Given the description of an element on the screen output the (x, y) to click on. 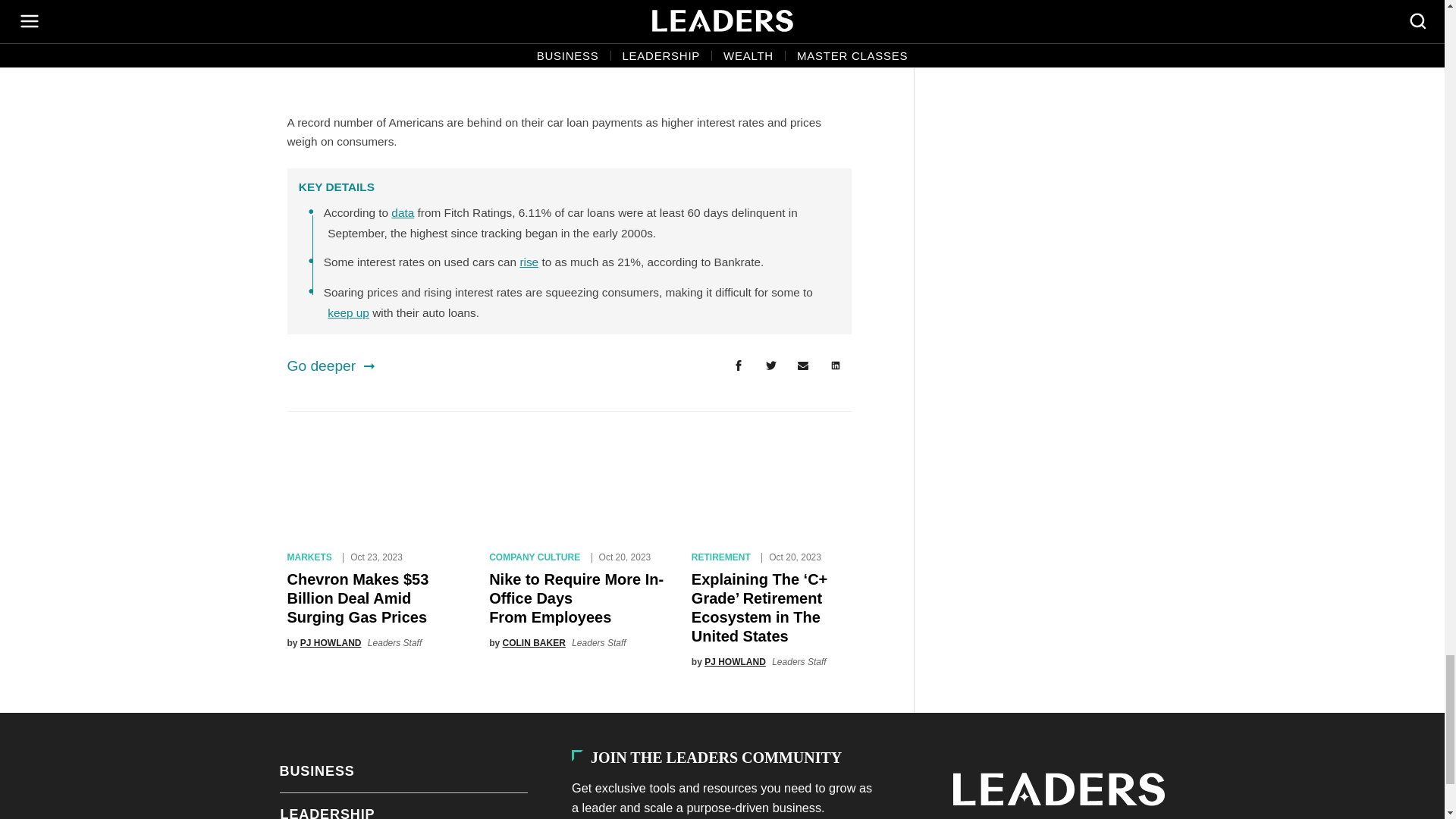
Share on Twitter (770, 367)
Share on LinkedIn (835, 367)
Share on Facebook (738, 367)
Share via Email (803, 367)
